Given the description of an element on the screen output the (x, y) to click on. 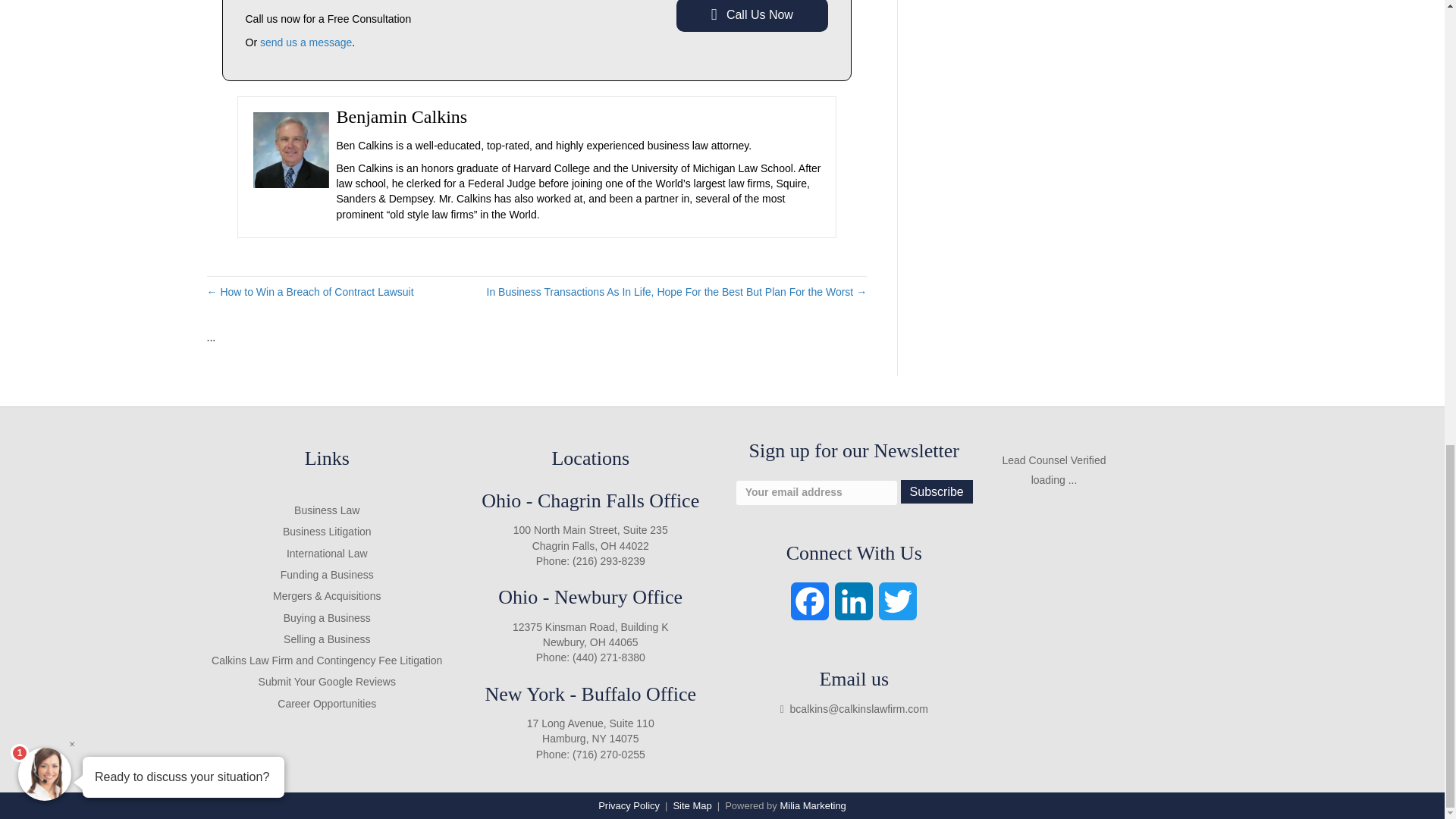
Subscribe (936, 491)
